Given the description of an element on the screen output the (x, y) to click on. 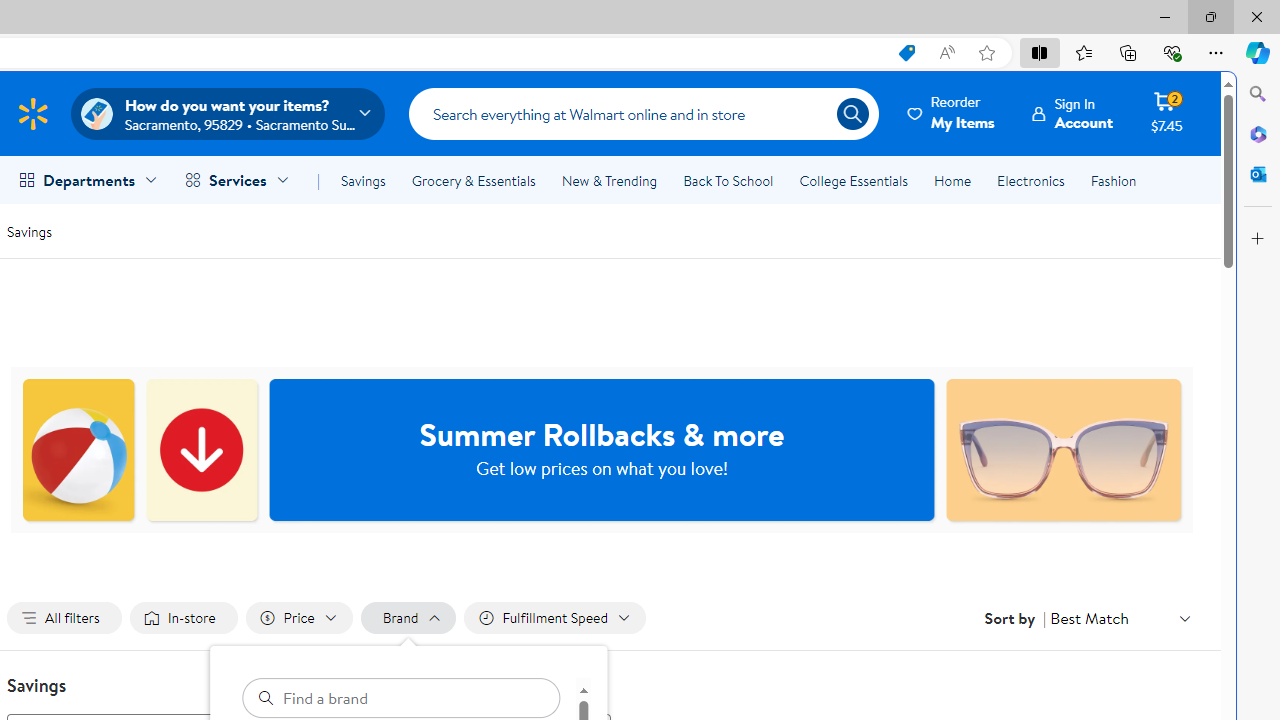
Fashion (1113, 180)
Walmart Homepage (32, 113)
New & Trending (608, 180)
Filter by Price not applied, activate to change (298, 618)
Cart contains 2 items Total Amount $7.45 (1166, 113)
Grocery & Essentials (473, 180)
